Given the description of an element on the screen output the (x, y) to click on. 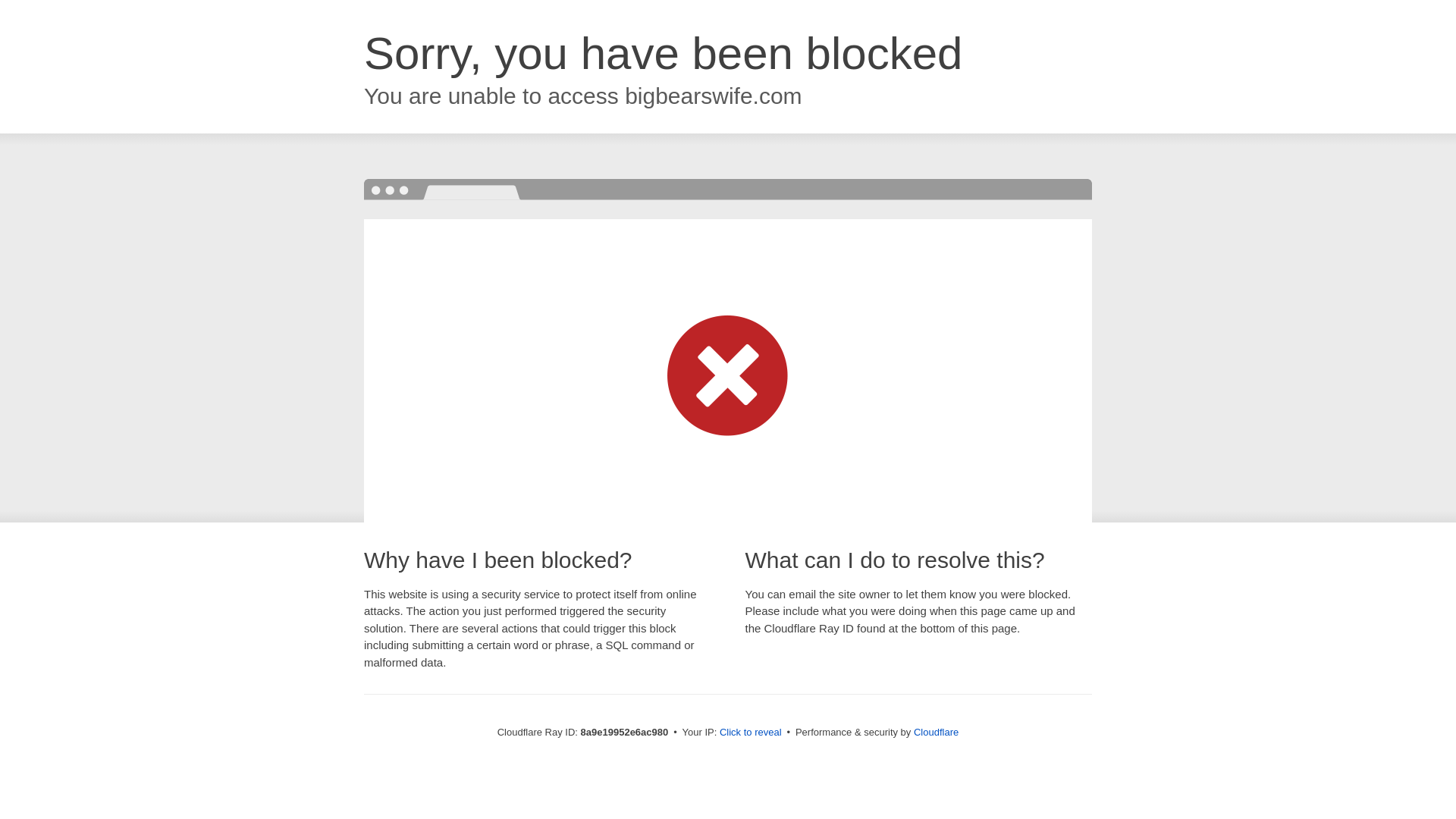
Cloudflare (936, 731)
Click to reveal (750, 732)
